Given the description of an element on the screen output the (x, y) to click on. 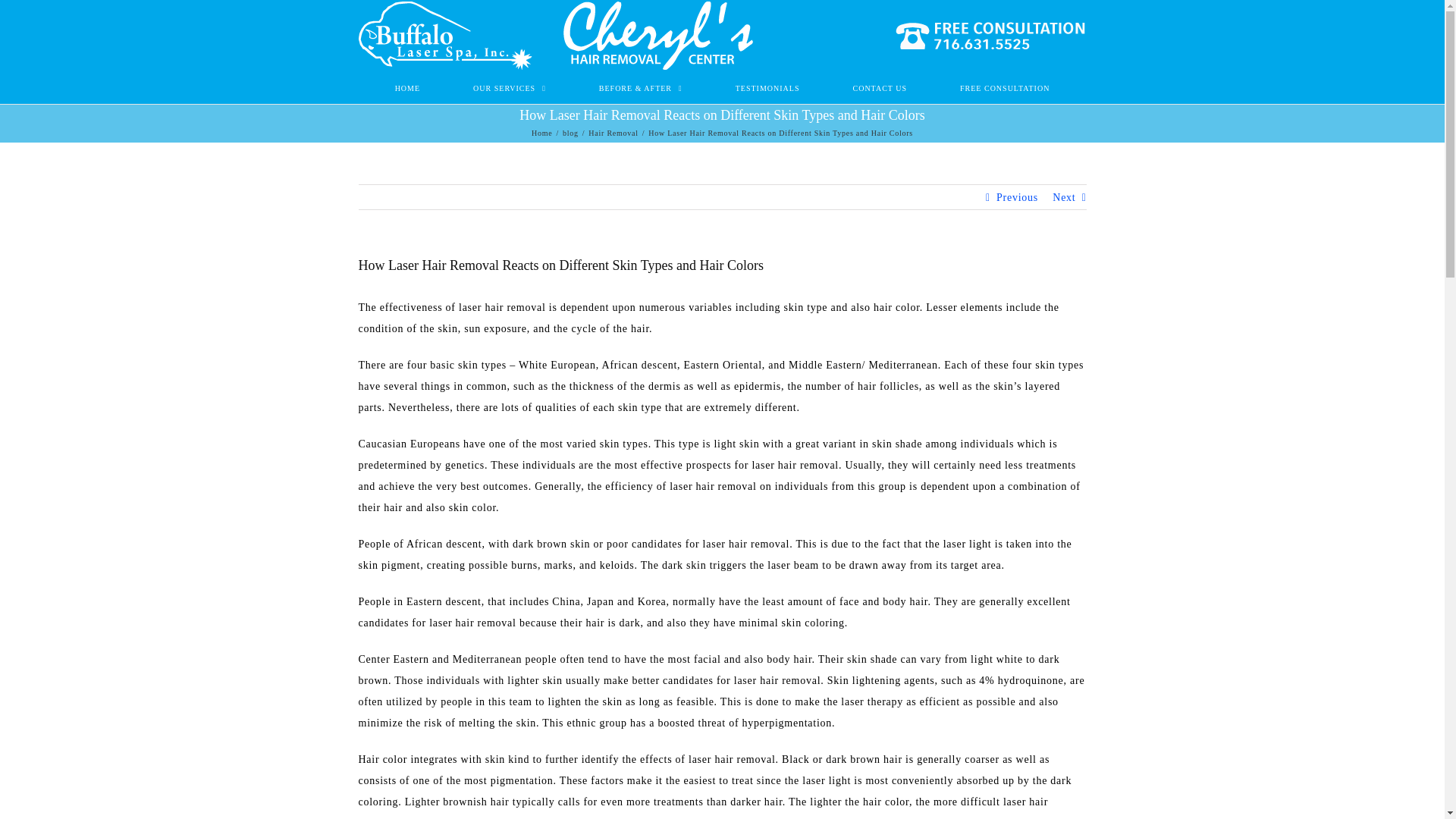
OUR SERVICES (509, 87)
